Given the description of an element on the screen output the (x, y) to click on. 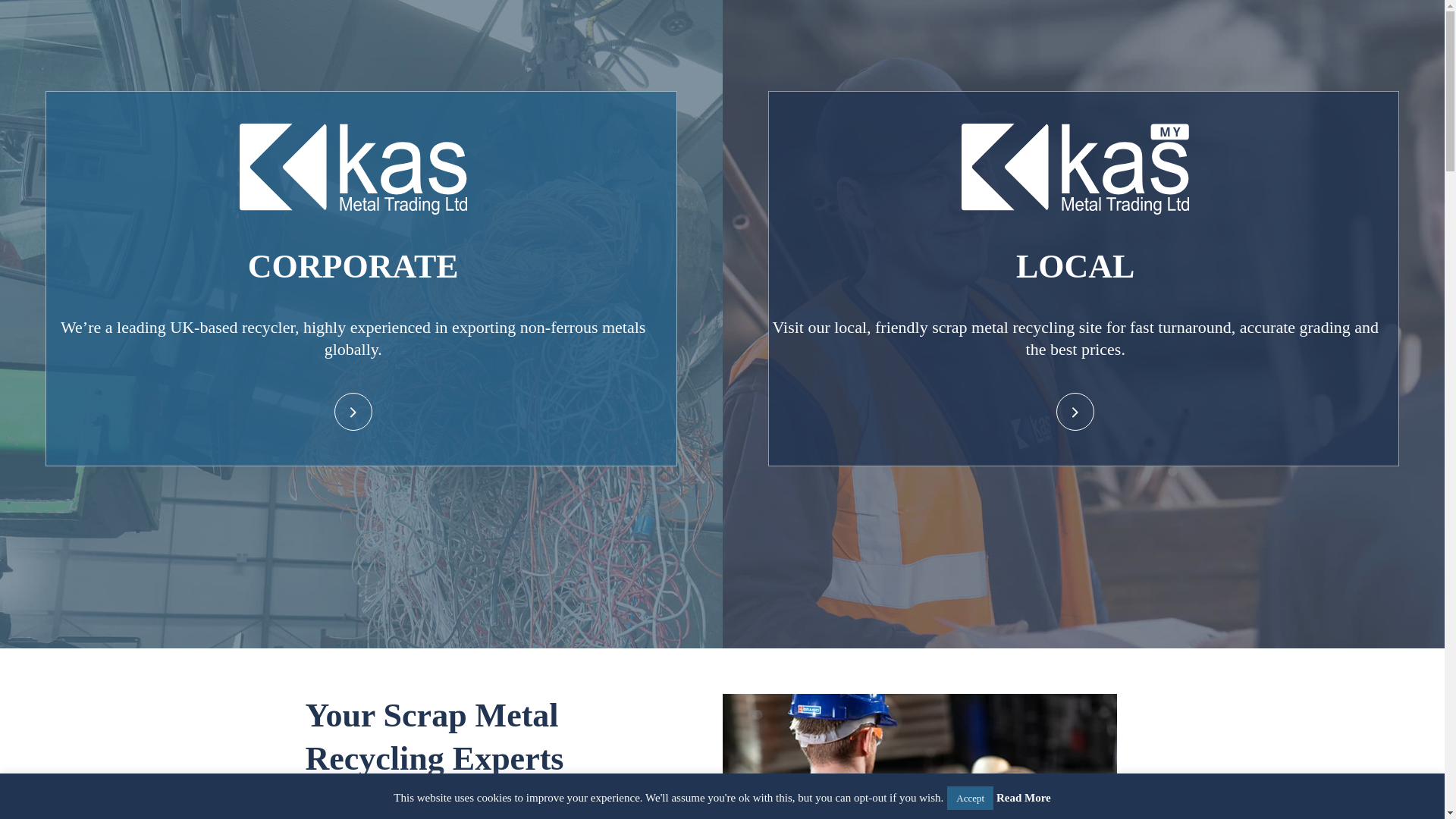
local-corp-white (353, 168)
kas-box-01 (919, 756)
local-local-white (1074, 168)
